Given the description of an element on the screen output the (x, y) to click on. 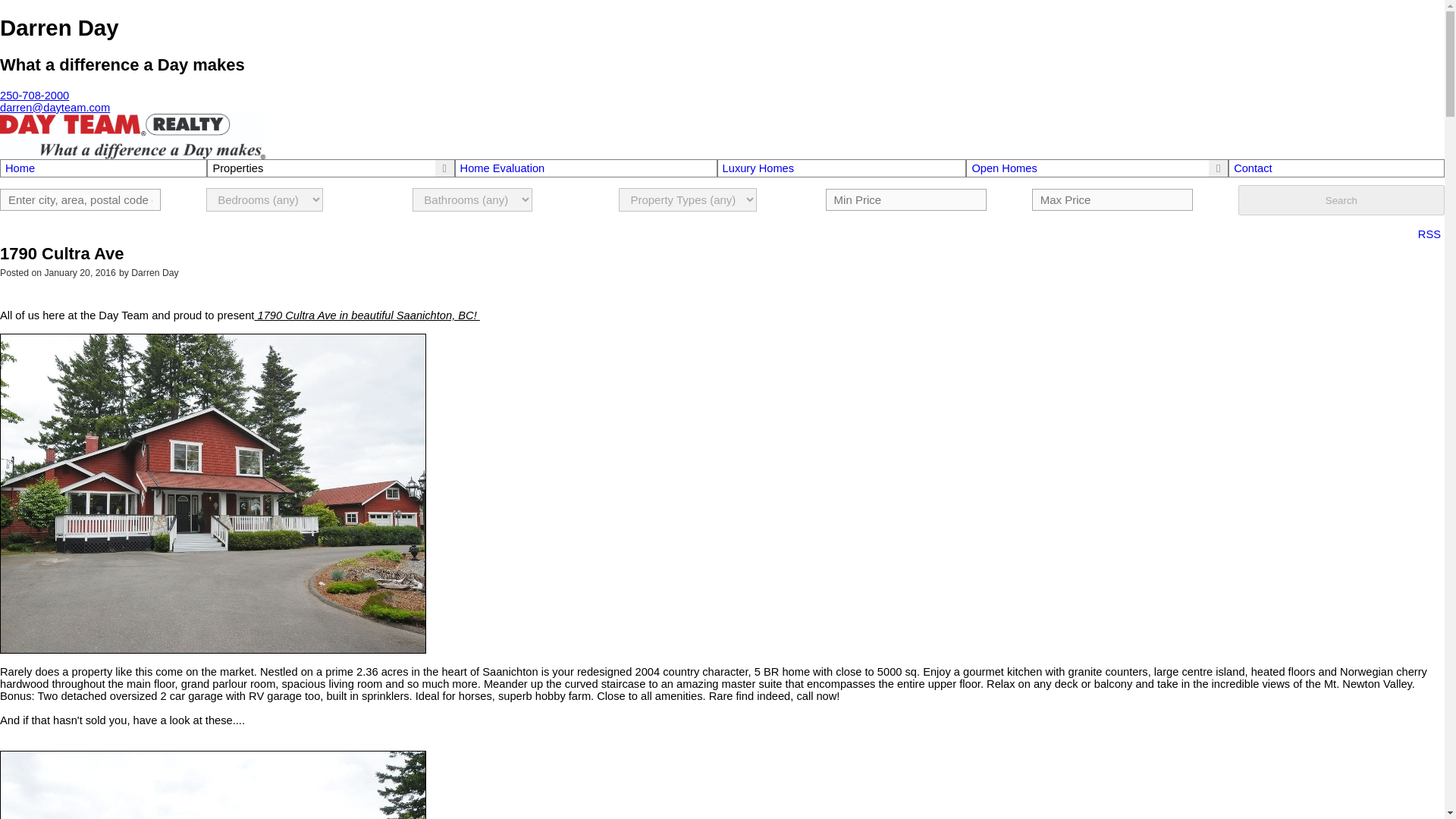
Cultra View 1 (213, 785)
Open Homes (1003, 168)
Properties (237, 168)
Home (103, 168)
250-708-2000 (34, 95)
Luxury Homes (841, 168)
Home Evaluation (585, 168)
